Given the description of an element on the screen output the (x, y) to click on. 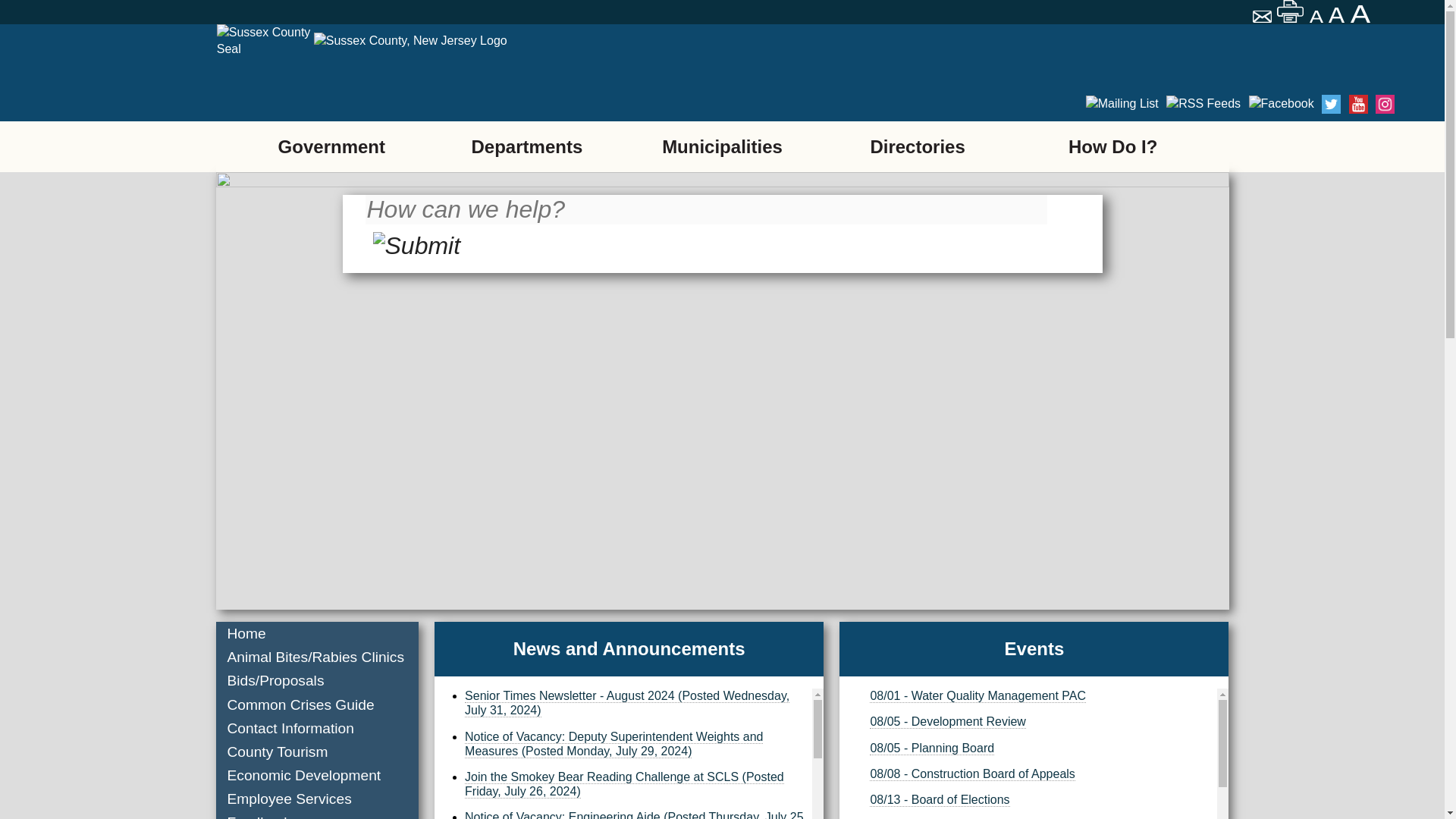
Government (330, 146)
Email page (1263, 18)
Visit our Facebook page (1280, 103)
Visit our RSS feed (1203, 103)
Medium font size (1336, 14)
Visit our YouTube channel (1358, 104)
Follow us on Twitter (1331, 104)
Search Box (705, 209)
Small font size (1316, 16)
Visit our Instagram page (1384, 104)
